Given the description of an element on the screen output the (x, y) to click on. 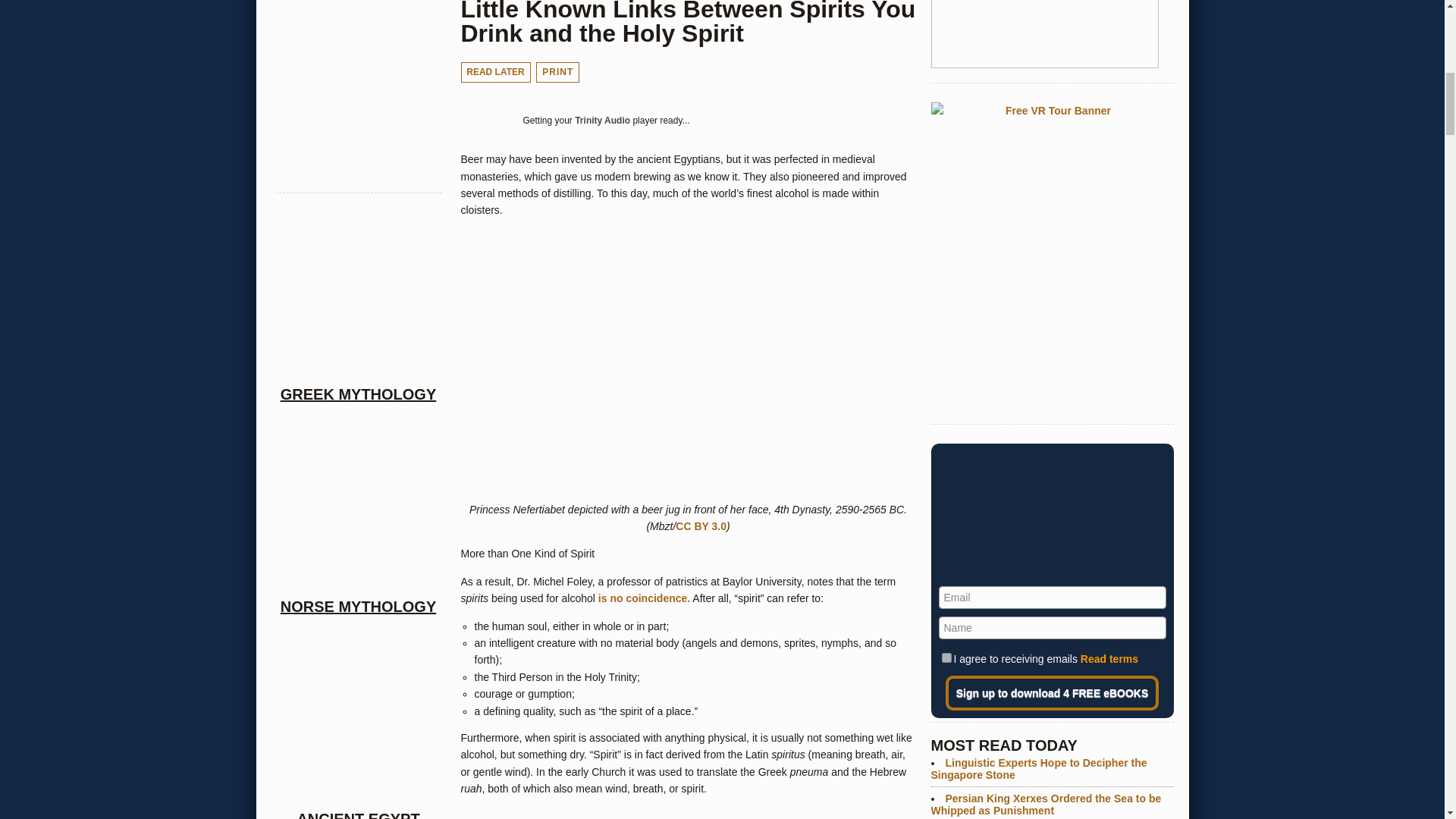
I approve receiving emails (947, 657)
